Given the description of an element on the screen output the (x, y) to click on. 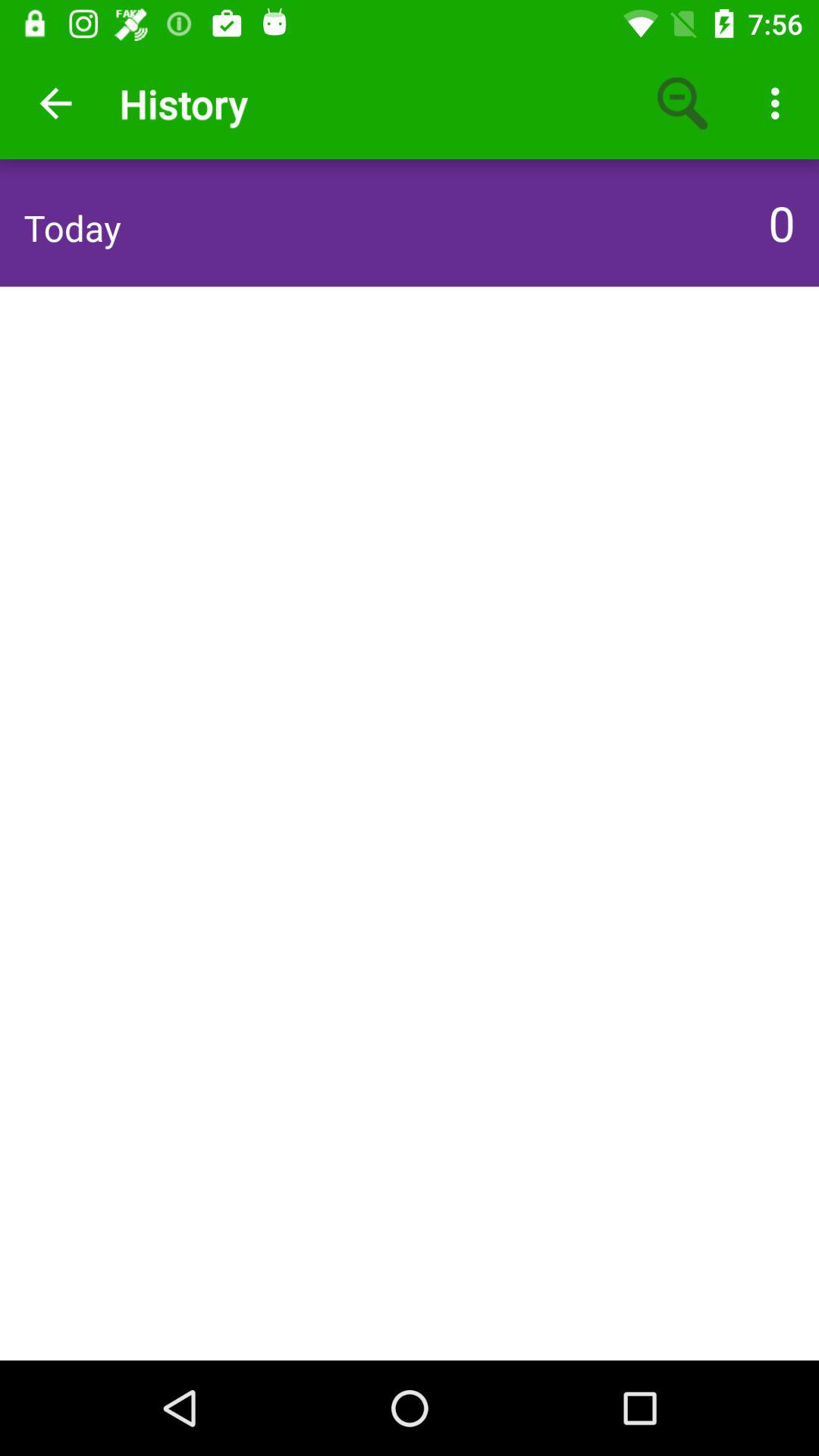
turn on 0 icon (777, 222)
